Given the description of an element on the screen output the (x, y) to click on. 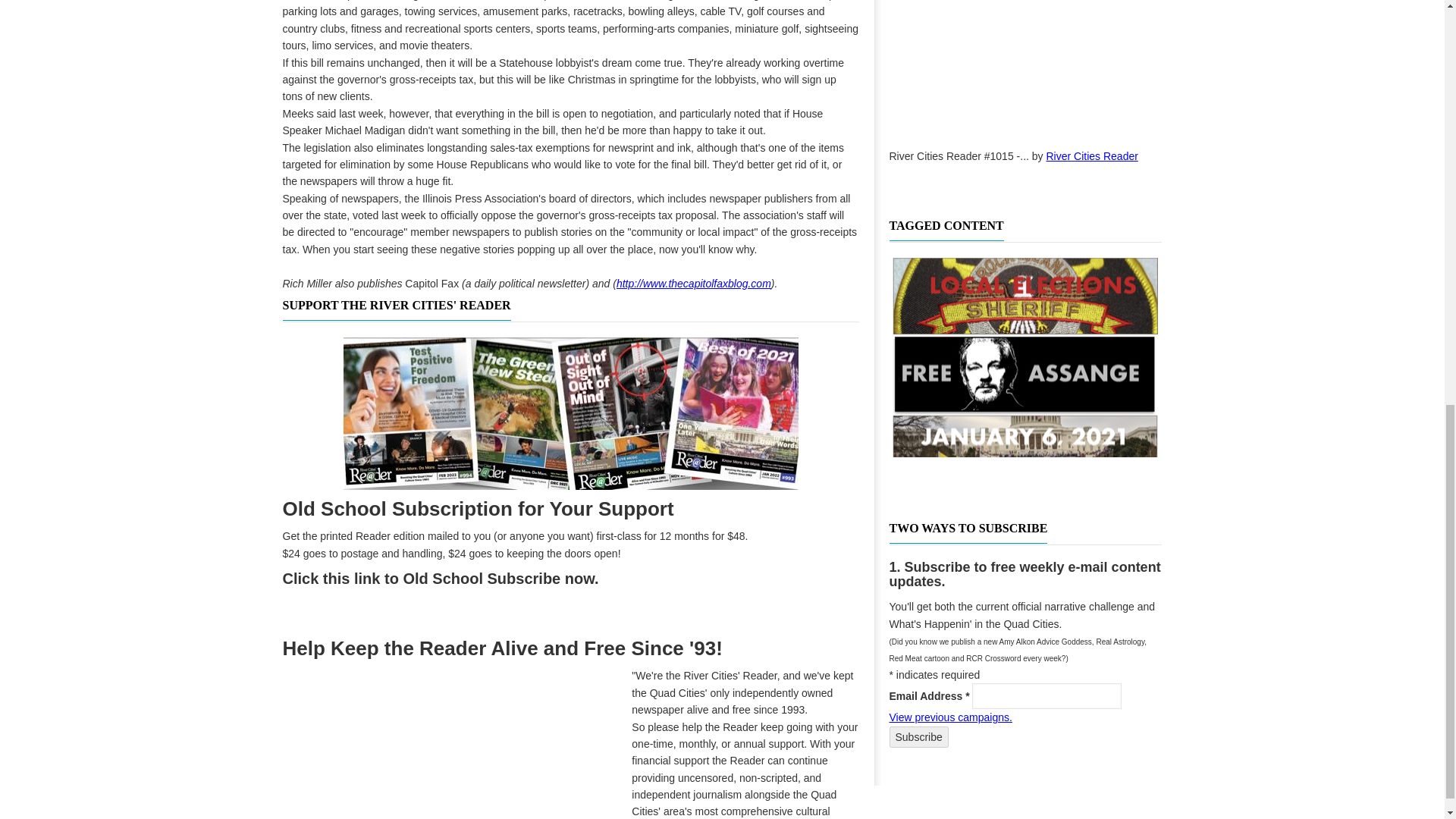
this link to Old School Subscribe now (458, 578)
View previous campaigns (949, 717)
View River Cities Reader's profile on Scribd (1092, 155)
Subscribe (917, 736)
